Given the description of an element on the screen output the (x, y) to click on. 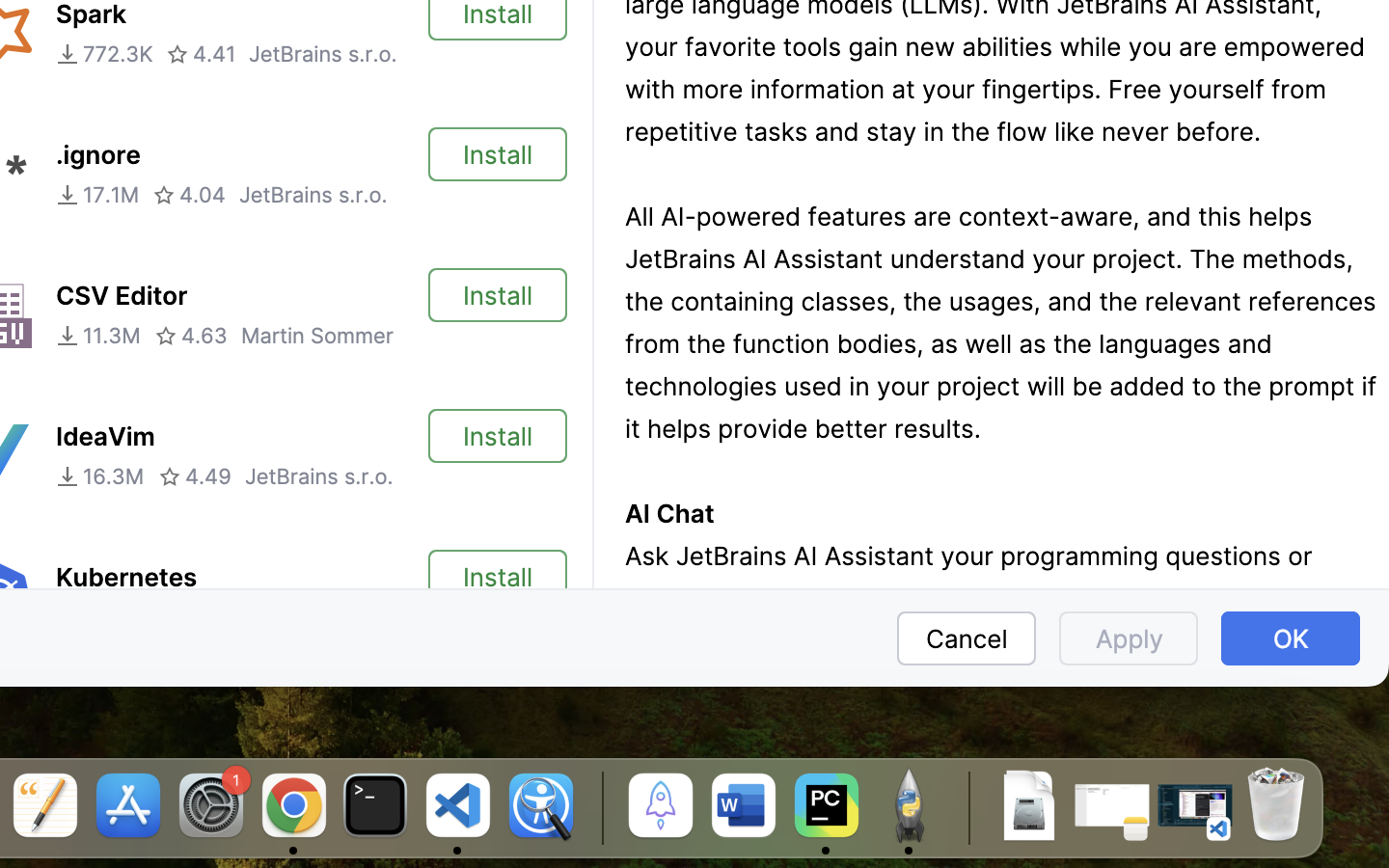
11.3M Element type: AXStaticText (97, 335)
4.04 Element type: AXStaticText (188, 194)
CSV Editor Element type: AXStaticText (121, 295)
4.63 Element type: AXStaticText (190, 335)
4.41 Element type: AXStaticText (200, 53)
